Given the description of an element on the screen output the (x, y) to click on. 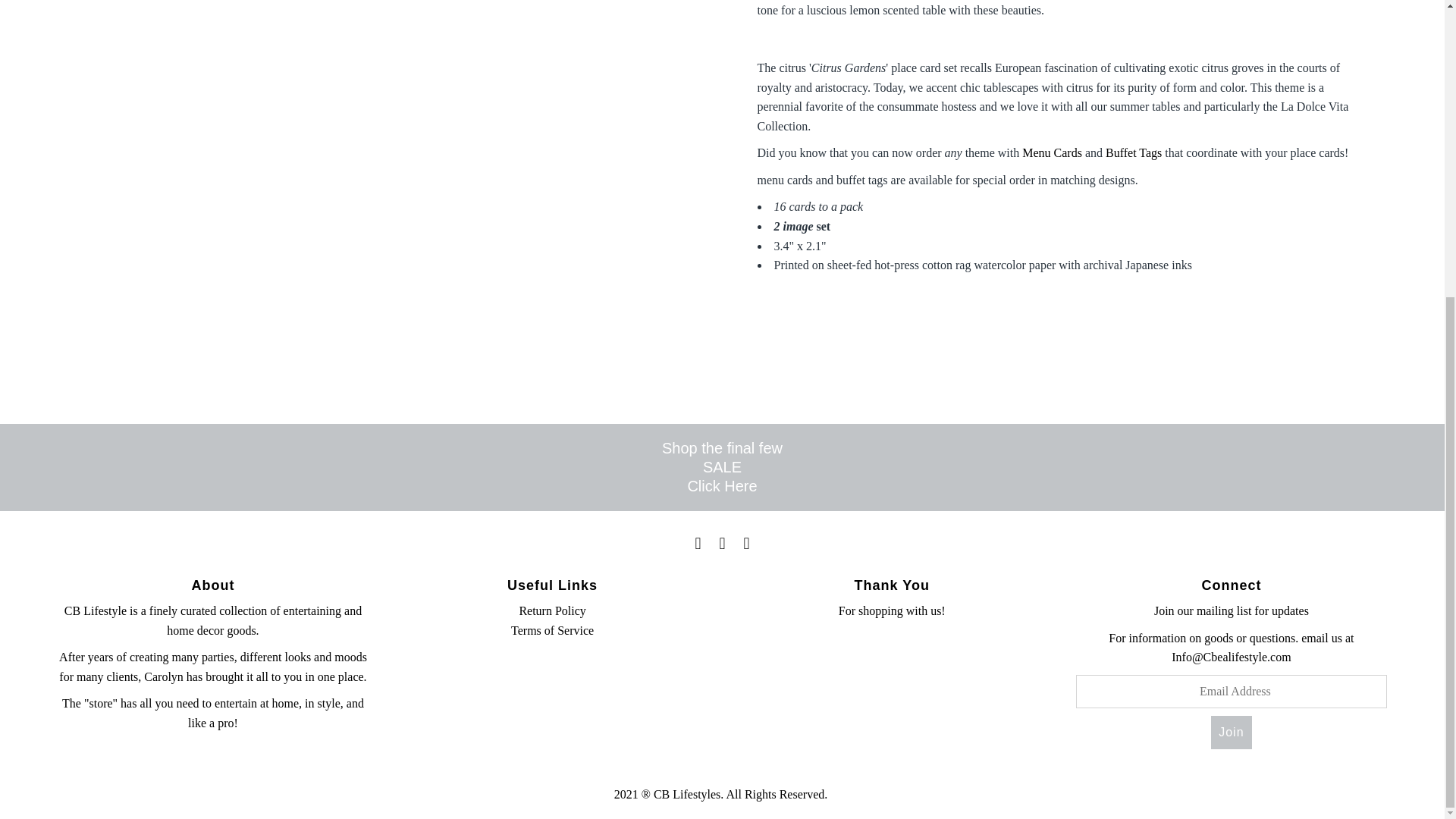
Fall Preview (722, 485)
Try Mr. P's Coordinating Buffet Tags (1133, 152)
Try Mr. P's Coordinating Menu Cards (1051, 152)
Join (1230, 732)
